Given the description of an element on the screen output the (x, y) to click on. 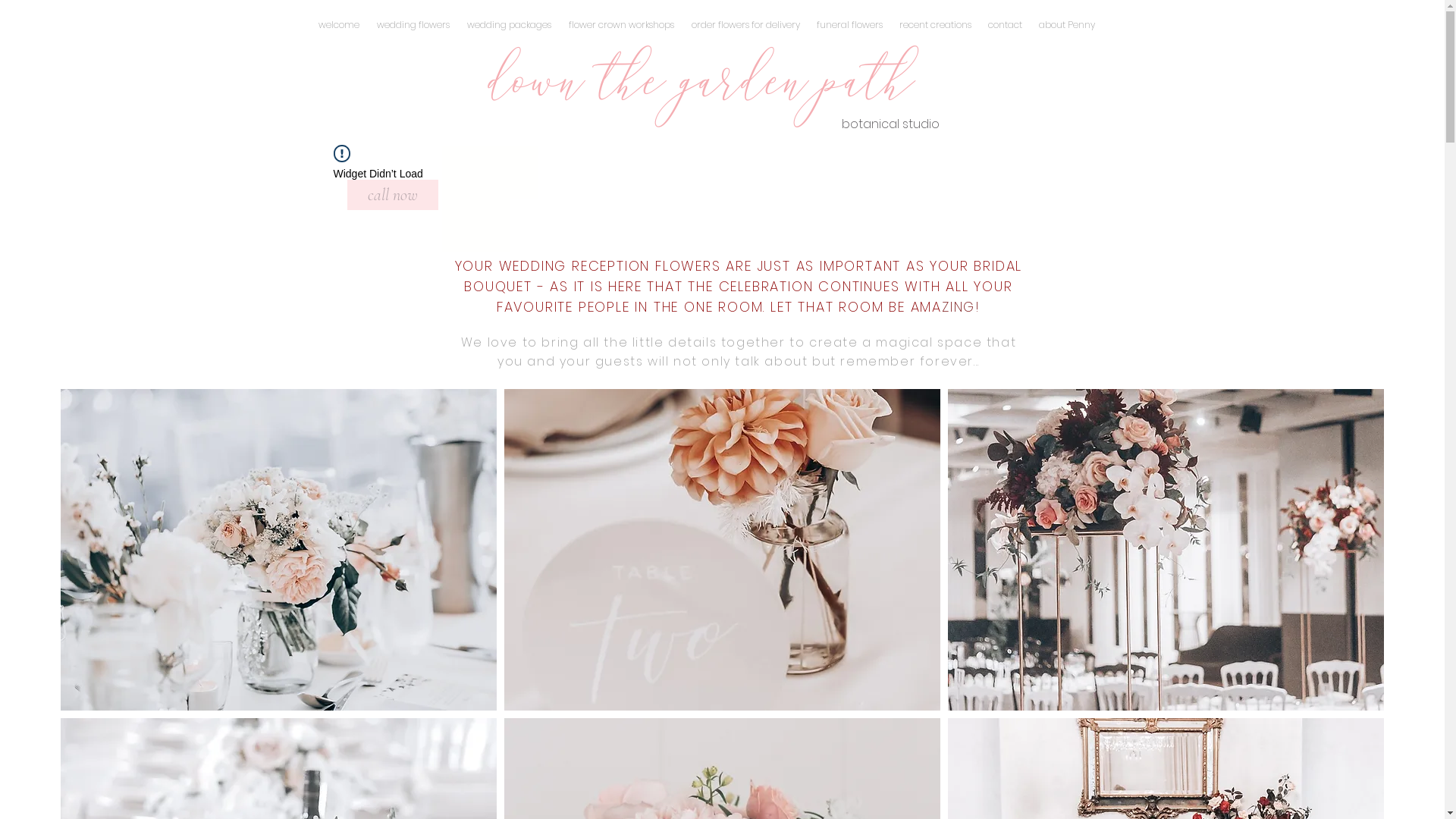
flower crown workshops Element type: text (620, 24)
welcome Element type: text (342, 24)
wedding packages Element type: text (508, 24)
call now Element type: text (392, 194)
order flowers for delivery Element type: text (744, 24)
recent creations Element type: text (934, 24)
about Penny Element type: text (1062, 24)
contact Element type: text (1004, 24)
funeral flowers Element type: text (849, 24)
